Given the description of an element on the screen output the (x, y) to click on. 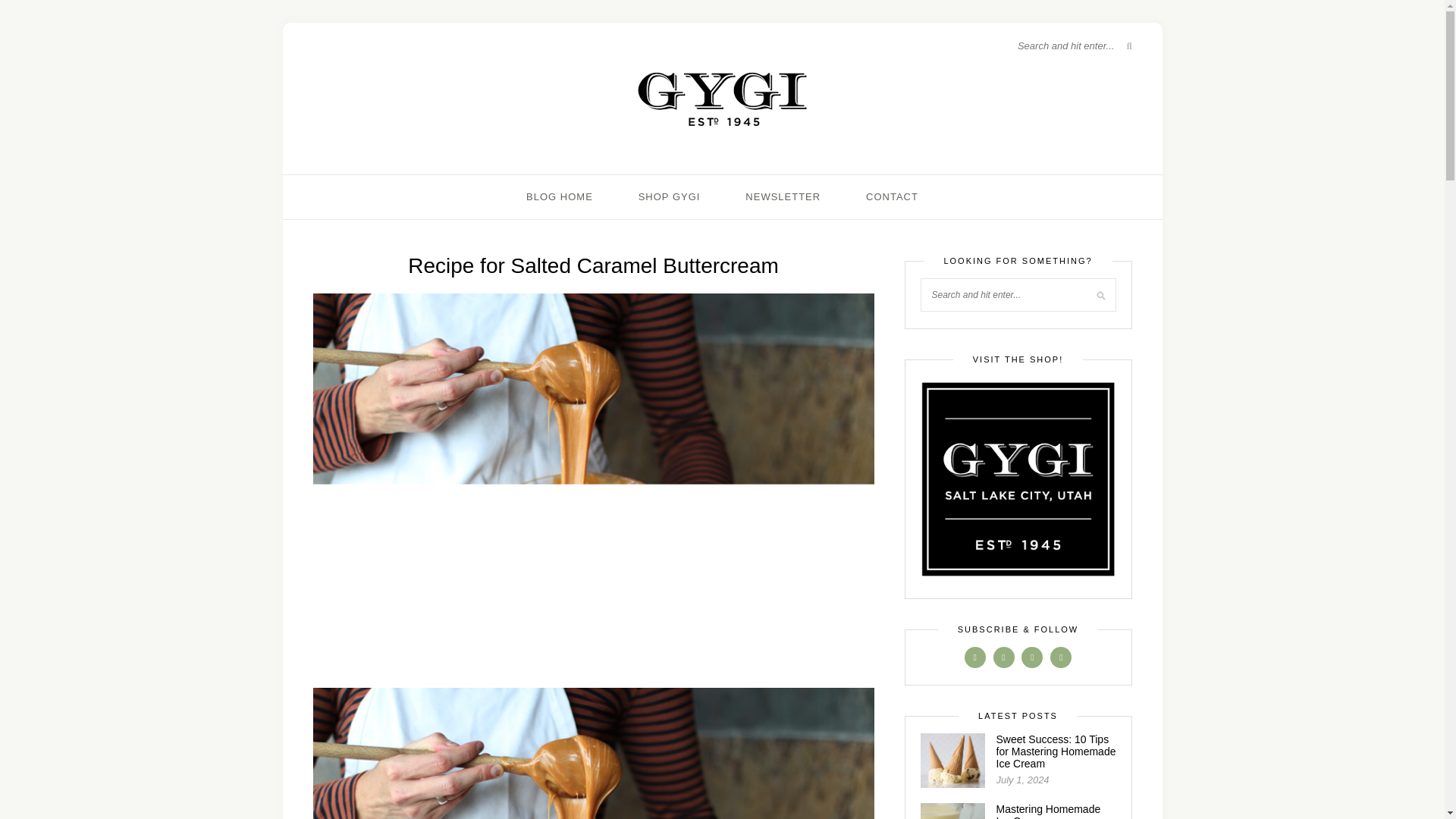
SHOP GYGI (669, 197)
Mastering Homemade Ice Cream (1047, 811)
NEWSLETTER (783, 197)
Gygi Shop (1018, 479)
Sweet Success: 10 Tips for Mastering Homemade Ice Cream (1055, 751)
CONTACT (892, 197)
BLOG HOME (558, 197)
